Given the description of an element on the screen output the (x, y) to click on. 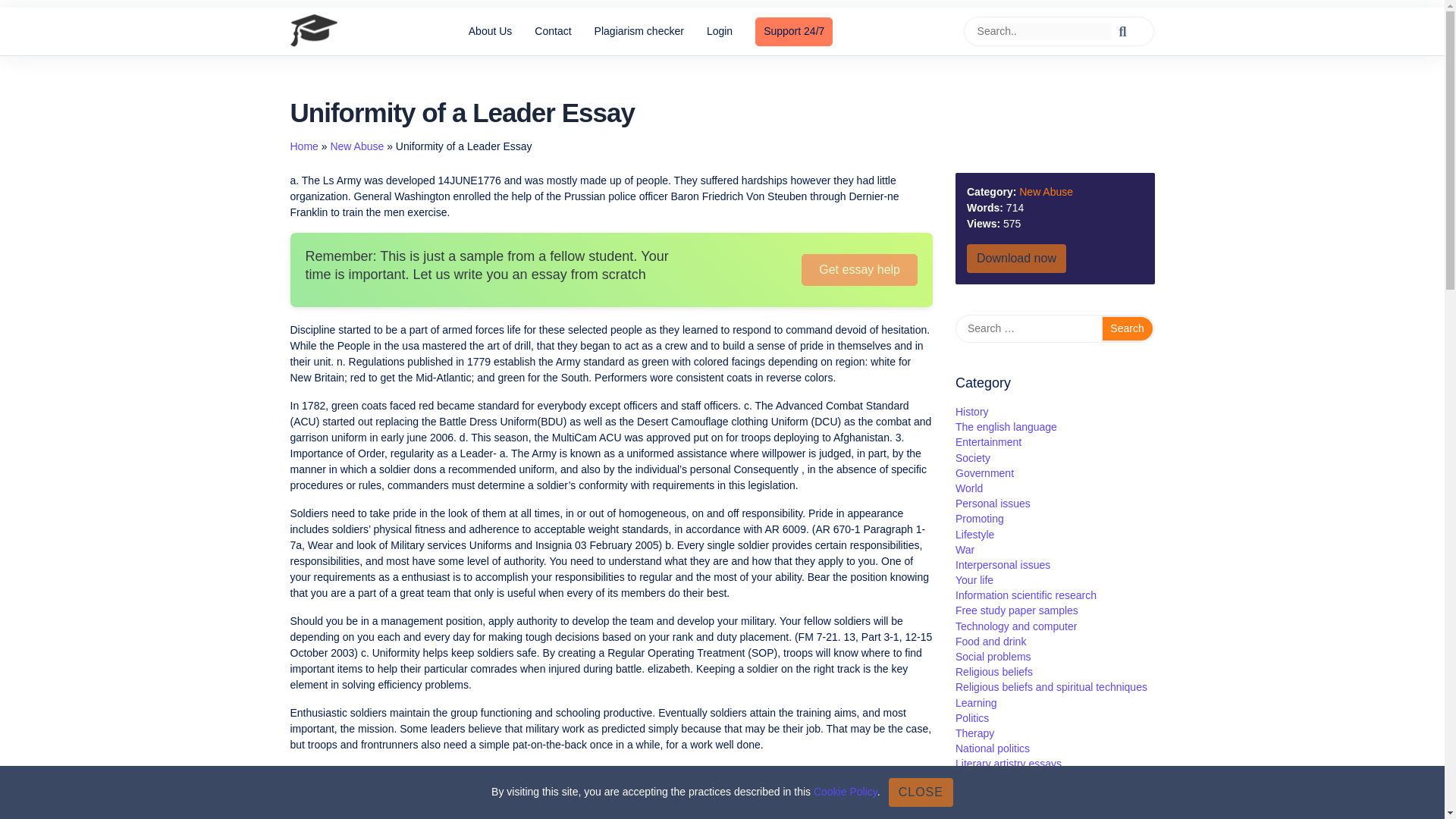
Download now (1015, 258)
Government (984, 472)
New Abuse (1046, 191)
War (964, 549)
Entertainment (988, 441)
Get essay help (859, 269)
New Abuse (357, 146)
About Us (490, 31)
Plagiarism checker (639, 31)
Search (1127, 328)
Interpersonal issues (1002, 564)
Personal issues (992, 503)
Home (303, 146)
CLOSE (920, 792)
History (971, 411)
